Given the description of an element on the screen output the (x, y) to click on. 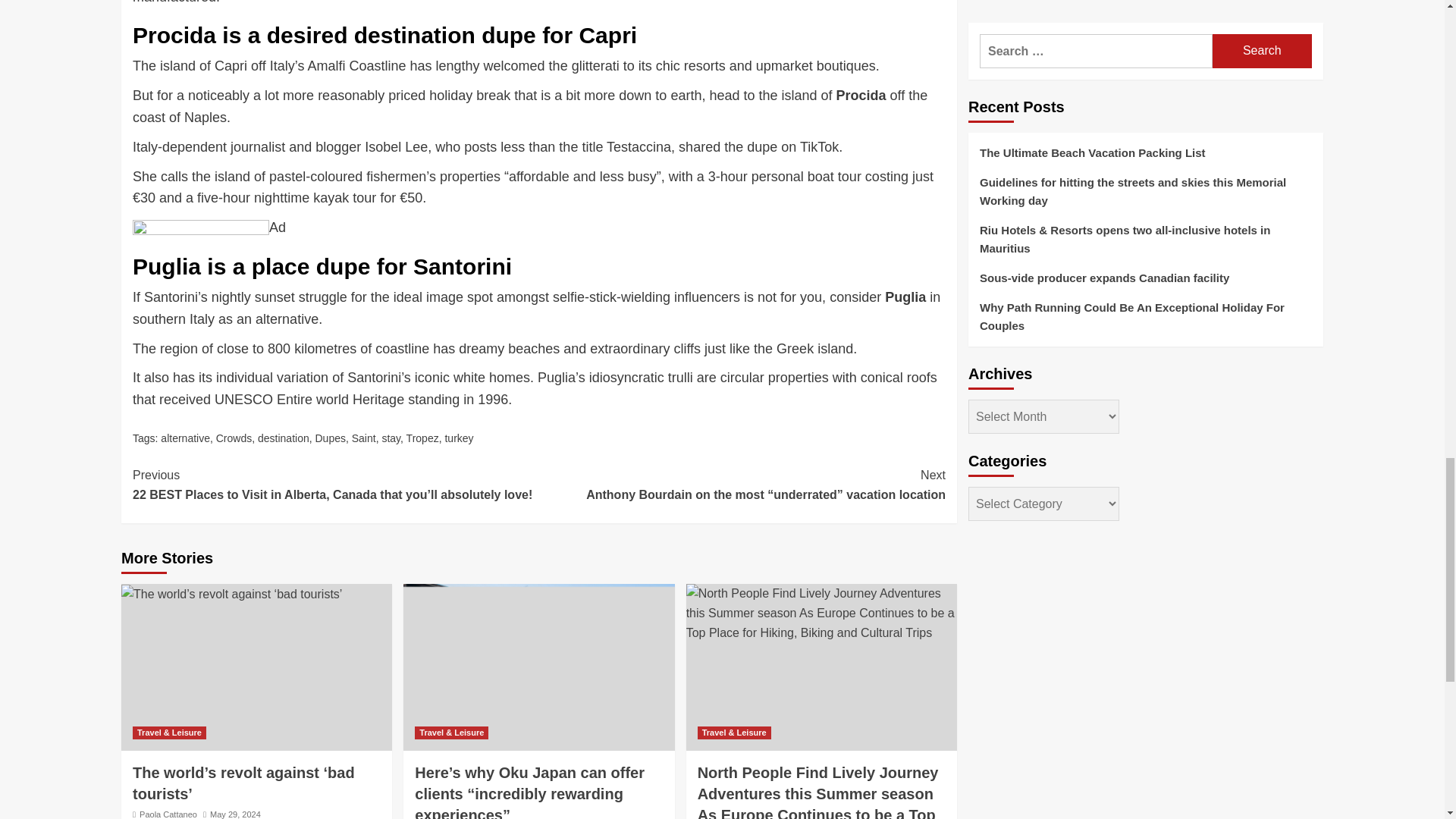
Dupes (329, 438)
stay (390, 438)
alternative (184, 438)
turkey (458, 438)
Crowds (233, 438)
destination (282, 438)
Tropez (422, 438)
Saint (363, 438)
